Given the description of an element on the screen output the (x, y) to click on. 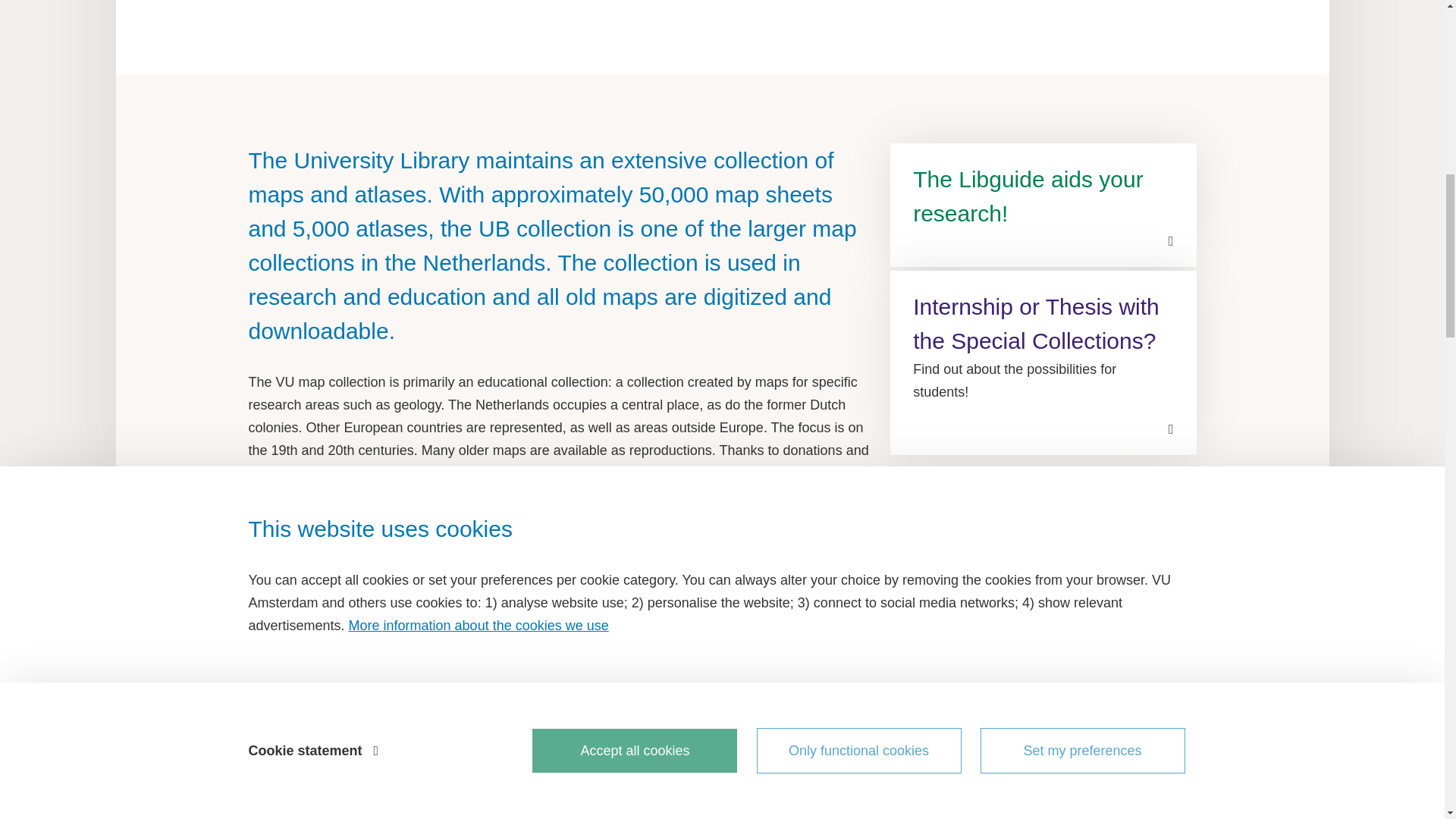
the Libguide (728, 631)
geoviewer (542, 609)
Map overview of the city of Batavia (725, 37)
The Libguide aids your research! (1042, 204)
Cranach's map of the Holy Land (469, 495)
catalog Libsearch (728, 723)
opening hours (643, 768)
VU Imagebase (553, 575)
